Given the description of an element on the screen output the (x, y) to click on. 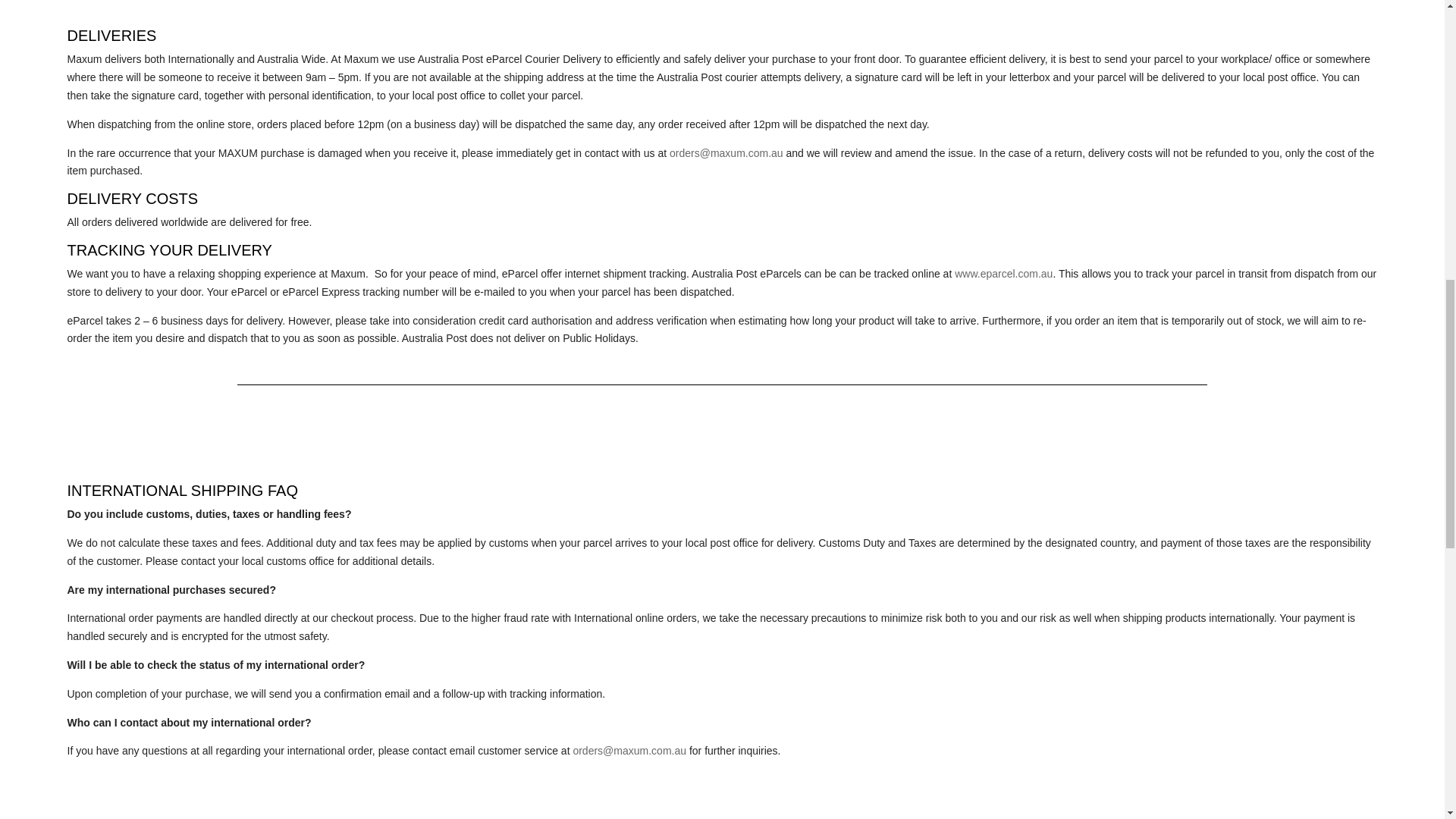
www.eparcel.com.au (1003, 273)
